Given the description of an element on the screen output the (x, y) to click on. 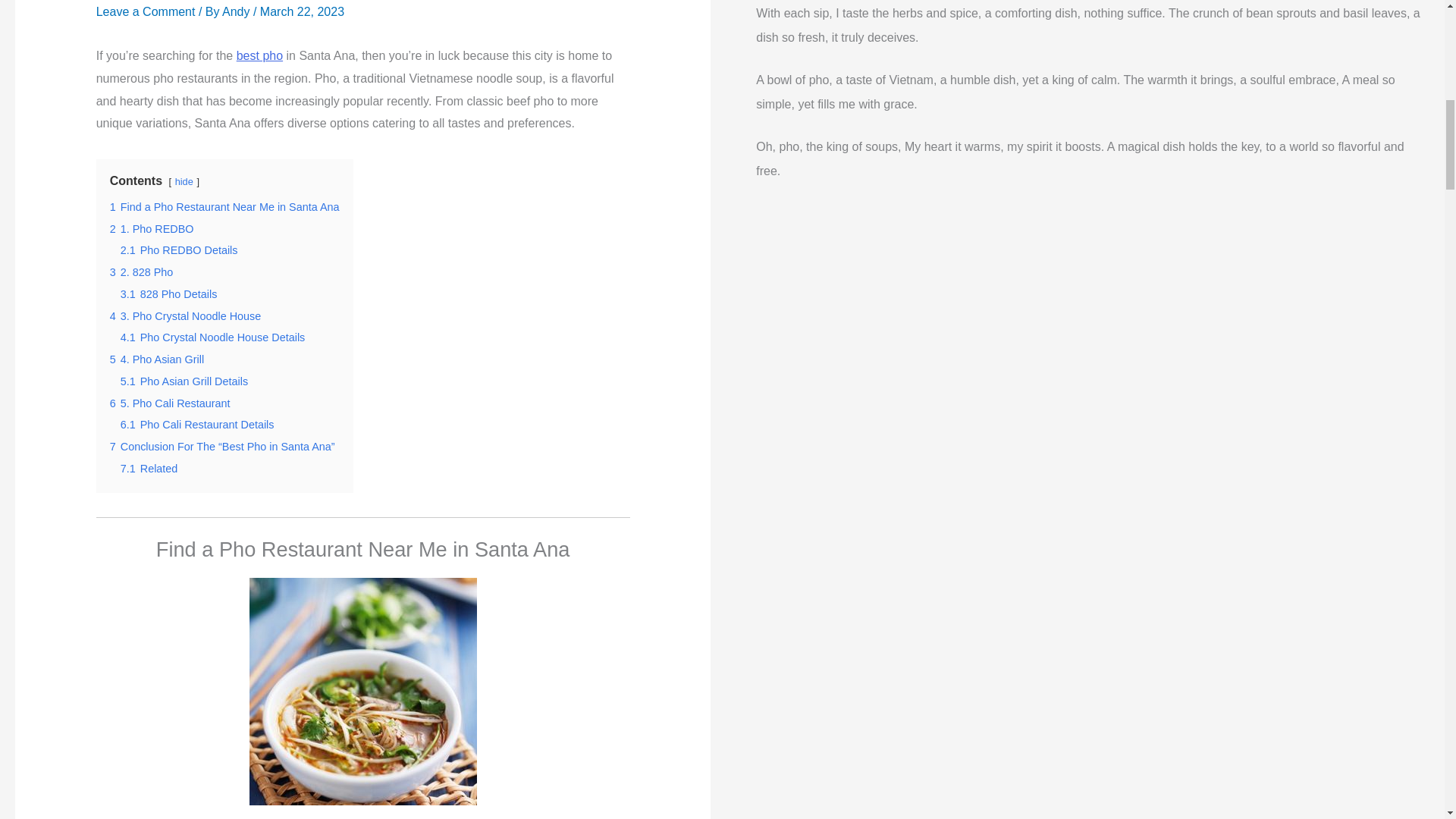
4 3. Pho Crystal Noodle House (186, 316)
6 5. Pho Cali Restaurant (170, 403)
Leave a Comment (145, 11)
best pho (258, 55)
7.1 Related (148, 468)
1 Find a Pho Restaurant Near Me in Santa Ana (224, 206)
6.1 Pho Cali Restaurant Details (197, 424)
5 4. Pho Asian Grill (156, 358)
4.1 Pho Crystal Noodle House Details (212, 337)
3 2. 828 Pho (141, 272)
